Given the description of an element on the screen output the (x, y) to click on. 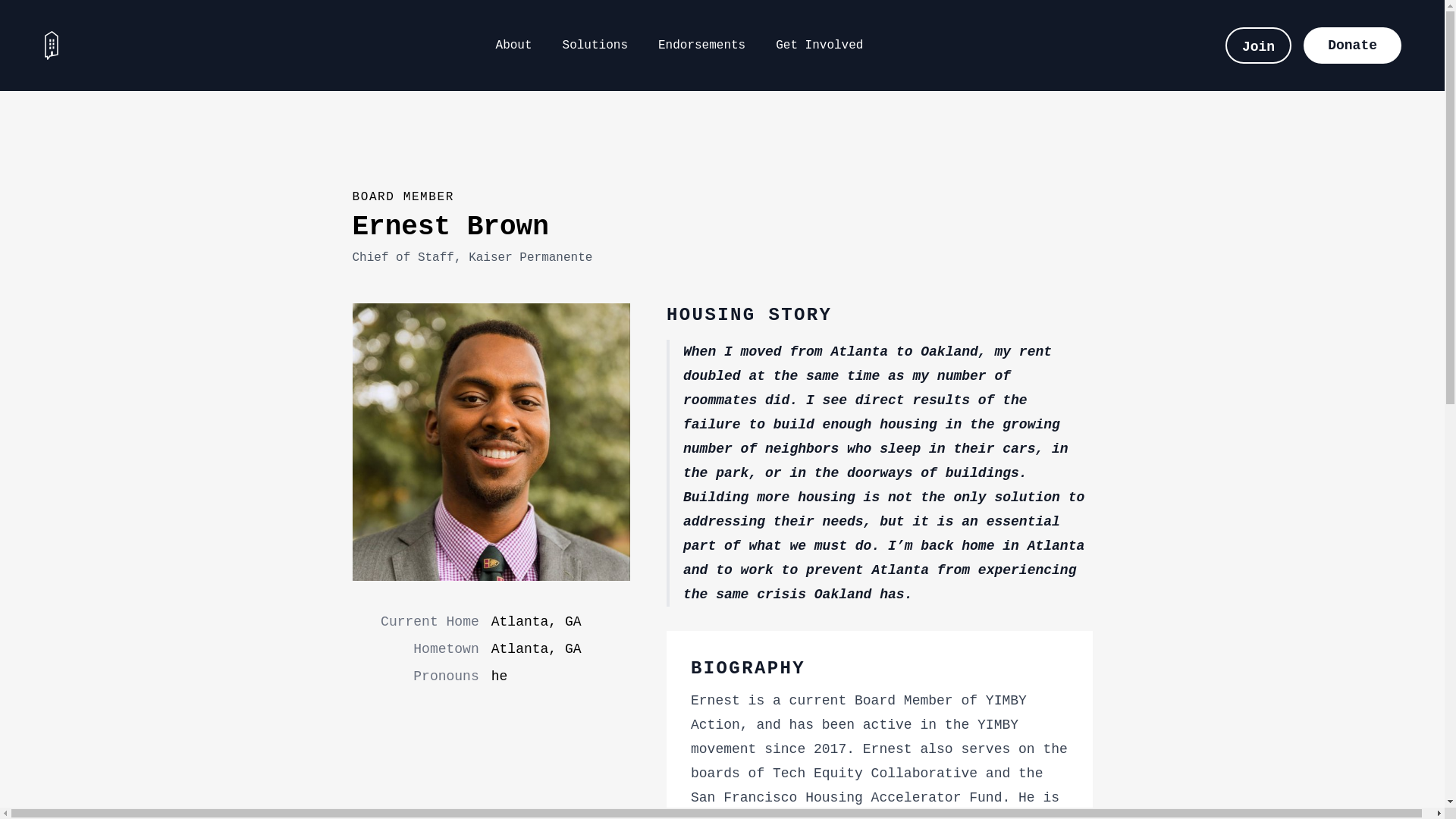
Endorsements (701, 45)
YIMBY Action (50, 45)
Solutions (594, 45)
Donate (1351, 45)
Join (1258, 45)
Get Involved (819, 45)
About (514, 45)
